Given the description of an element on the screen output the (x, y) to click on. 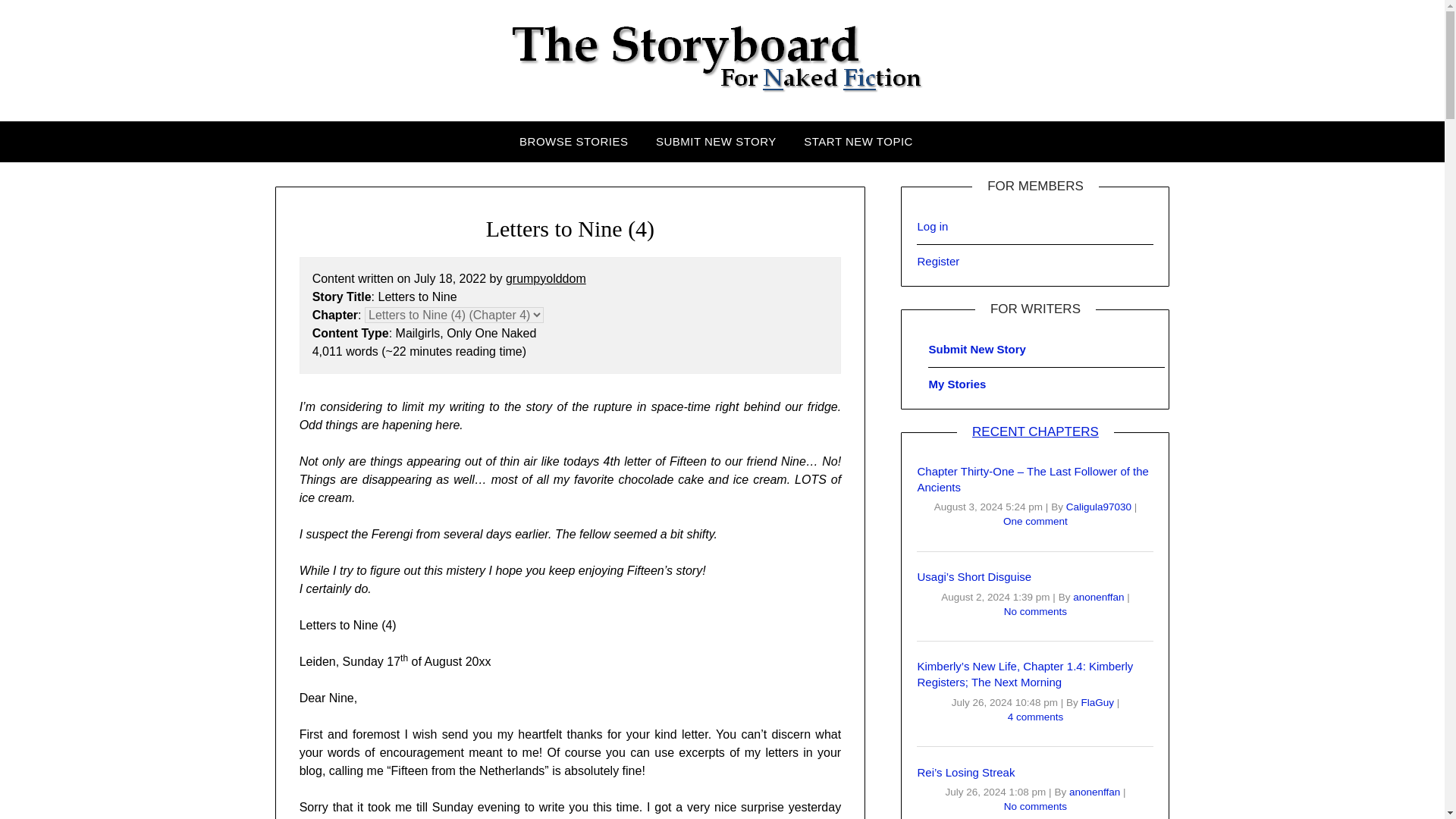
SUBMIT NEW STORY (716, 141)
4 comments (1035, 716)
My Stories (956, 383)
Log in (932, 226)
Submit New Story (976, 349)
START NEW TOPIC (858, 141)
Register (938, 260)
No comments (1035, 806)
One comment (1035, 521)
RECENT CHAPTERS (1035, 431)
anonenffan (1095, 791)
No comments (1035, 611)
BROWSE STORIES (579, 141)
FlaGuy (1098, 702)
Caligula97030 (1099, 506)
